Given the description of an element on the screen output the (x, y) to click on. 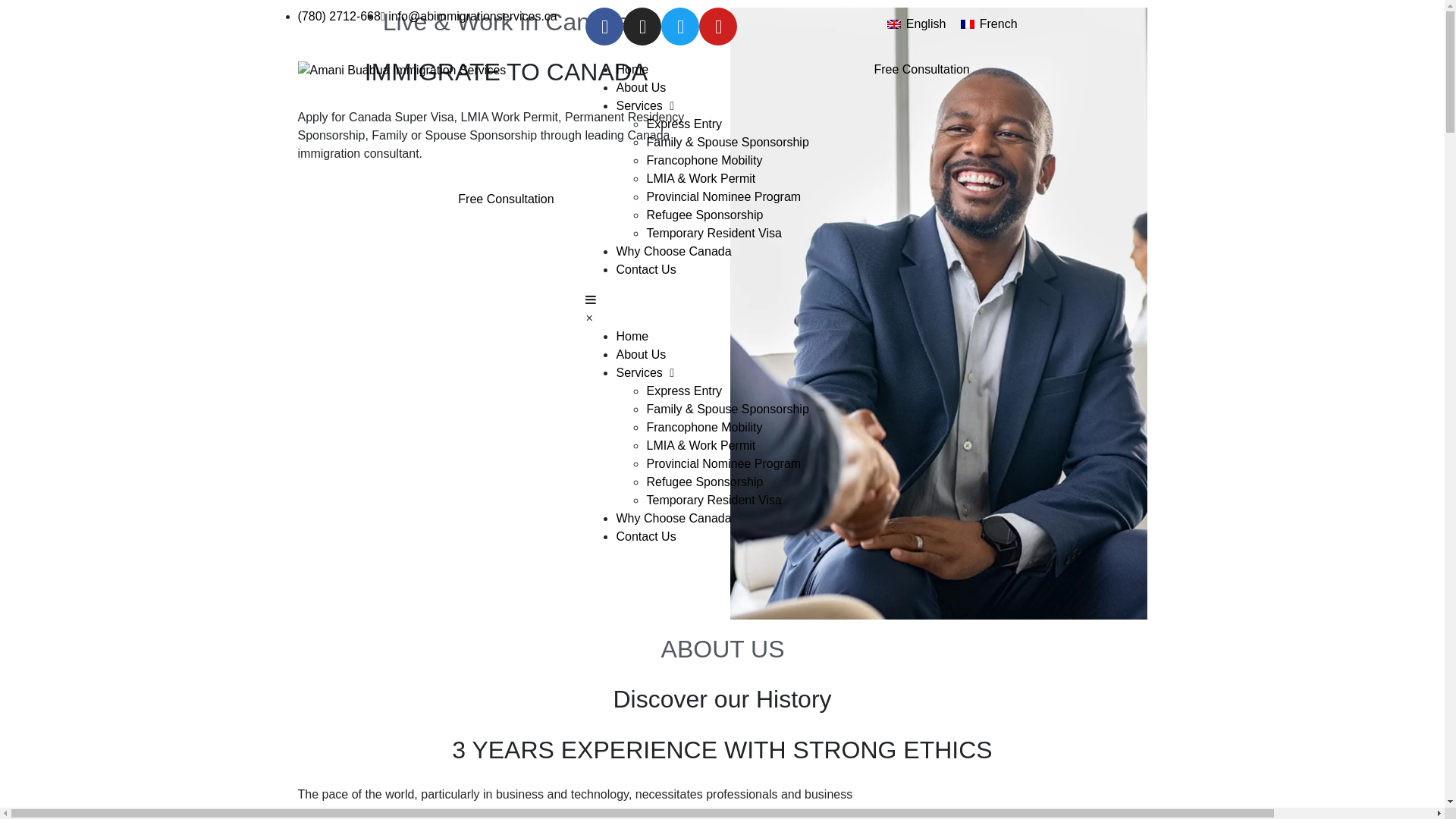
About Us Element type: text (640, 87)
French Element type: text (988, 23)
Free Consultation Element type: text (505, 199)
(780) 2712-668 Element type: text (338, 15)
Free Consultation Element type: text (1009, 69)
LMIA & Work Permit Element type: text (700, 445)
info@abimmigrationservices.ca Element type: text (468, 15)
Express Entry Element type: text (683, 390)
Express Entry Element type: text (683, 123)
English Element type: text (916, 23)
Why Choose Canada Element type: text (673, 250)
Refugee Sponsorship Element type: text (704, 214)
Refugee Sponsorship Element type: text (704, 481)
Services Element type: text (644, 105)
Francophone Mobility Element type: text (704, 426)
Services Element type: text (644, 372)
Francophone Mobility Element type: text (704, 159)
Contact Us Element type: text (645, 536)
Why Choose Canada Element type: text (673, 517)
About Us Element type: text (640, 354)
Family & Spouse Sponsorship Element type: text (727, 141)
Temporary Resident Visa Element type: text (713, 499)
Home Element type: text (631, 335)
Home Element type: text (631, 68)
LMIA & Work Permit Element type: text (700, 178)
Contact Us Element type: text (645, 269)
Provincial Nominee Program Element type: text (723, 463)
Temporary Resident Visa Element type: text (713, 232)
Family & Spouse Sponsorship Element type: text (727, 408)
Provincial Nominee Program Element type: text (723, 196)
